Given the description of an element on the screen output the (x, y) to click on. 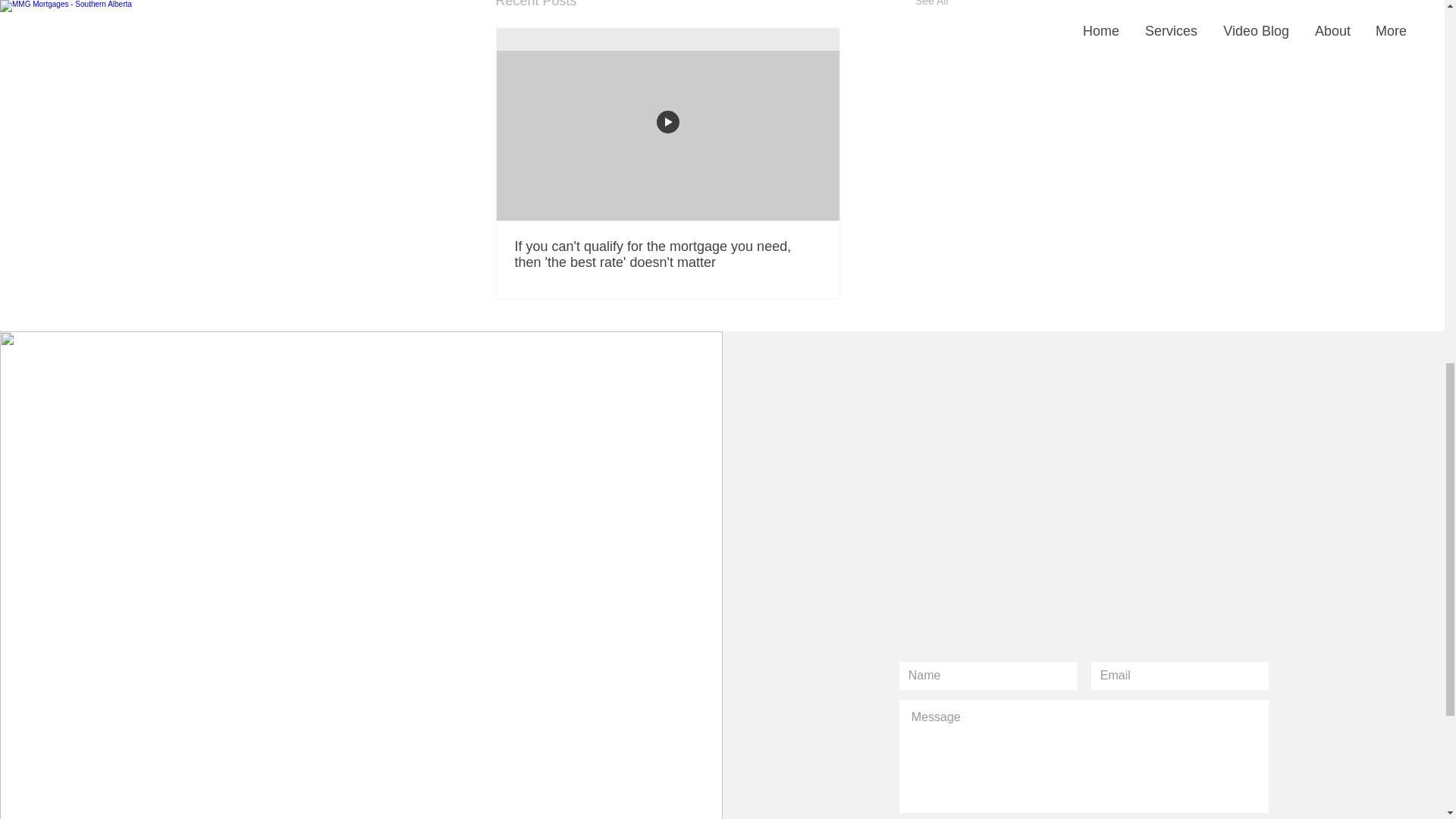
See All (932, 6)
